Given the description of an element on the screen output the (x, y) to click on. 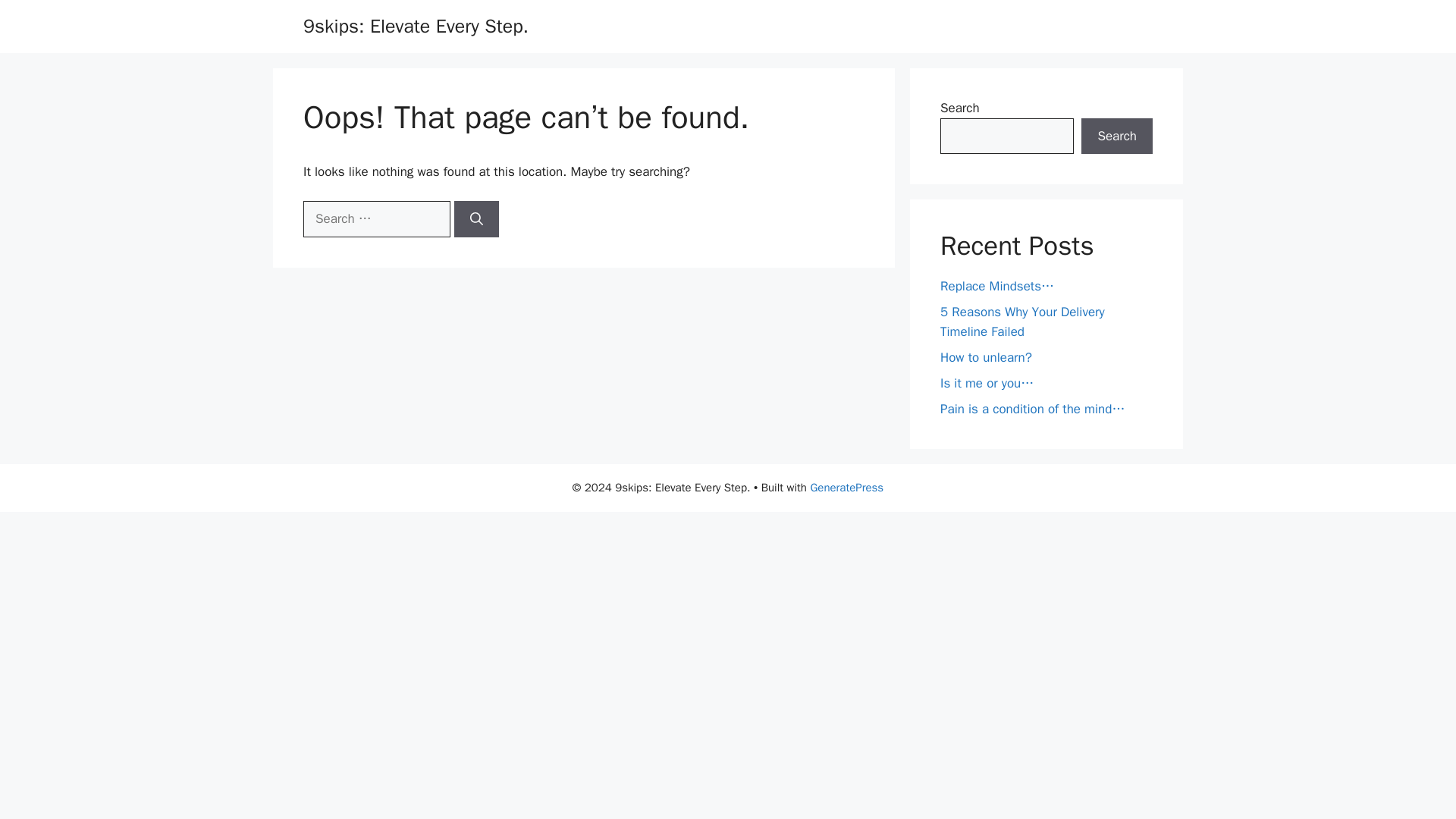
9skips: Elevate Every Step. (415, 25)
Search (1117, 135)
Search for: (375, 218)
5 Reasons Why Your Delivery Timeline Failed (1022, 321)
GeneratePress (846, 487)
How to unlearn? (986, 356)
